Given the description of an element on the screen output the (x, y) to click on. 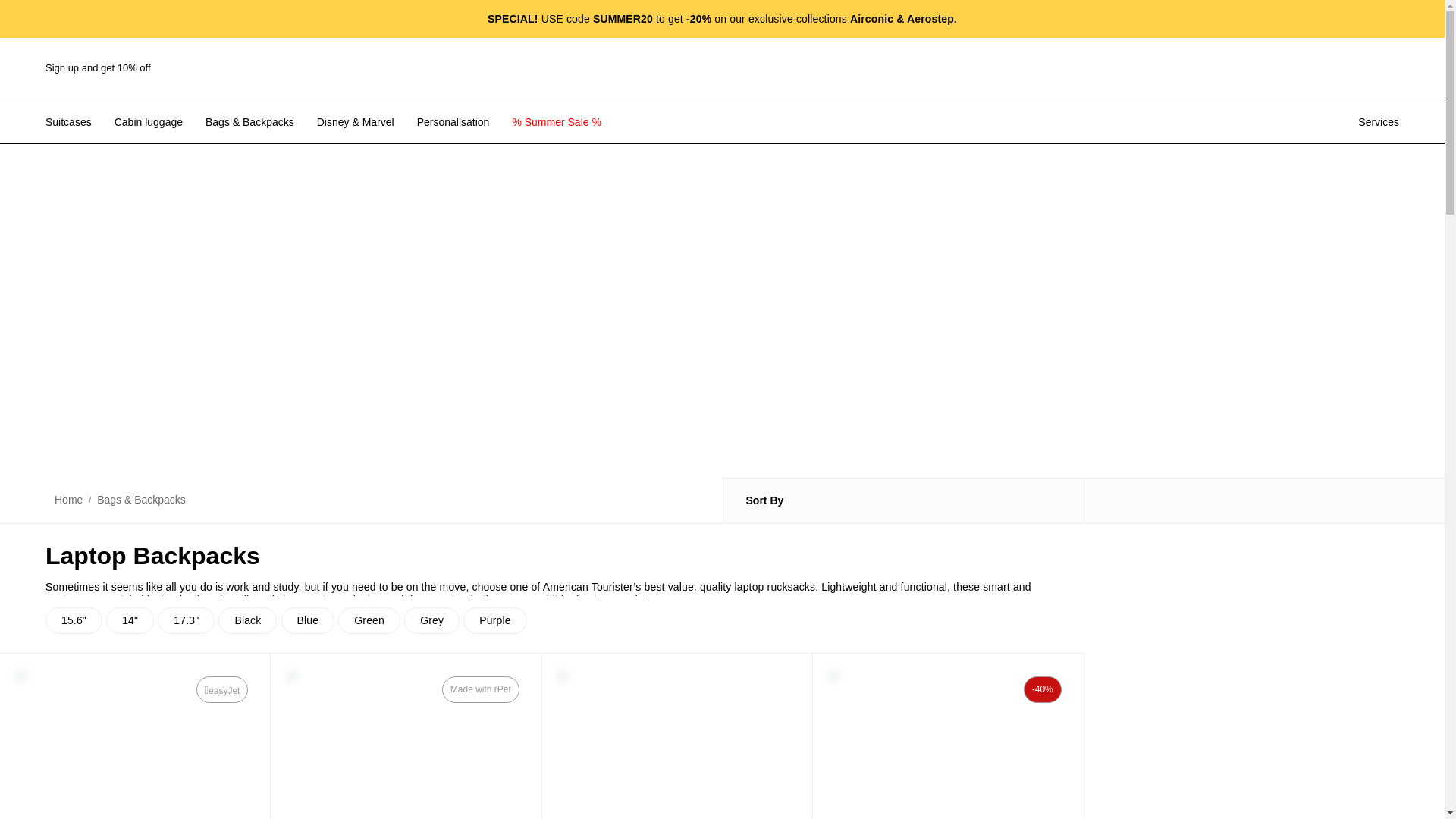
Streethero 15.6'' Backpack 15.6" (947, 736)
AT Work Laptop Backpack 15.6" (676, 736)
Cabin luggage (149, 121)
Suitcases (68, 121)
Take2cabin M Backpack 15.6" (135, 736)
Urban Groove Laptop Backpack 15.6" (405, 736)
